Given the description of an element on the screen output the (x, y) to click on. 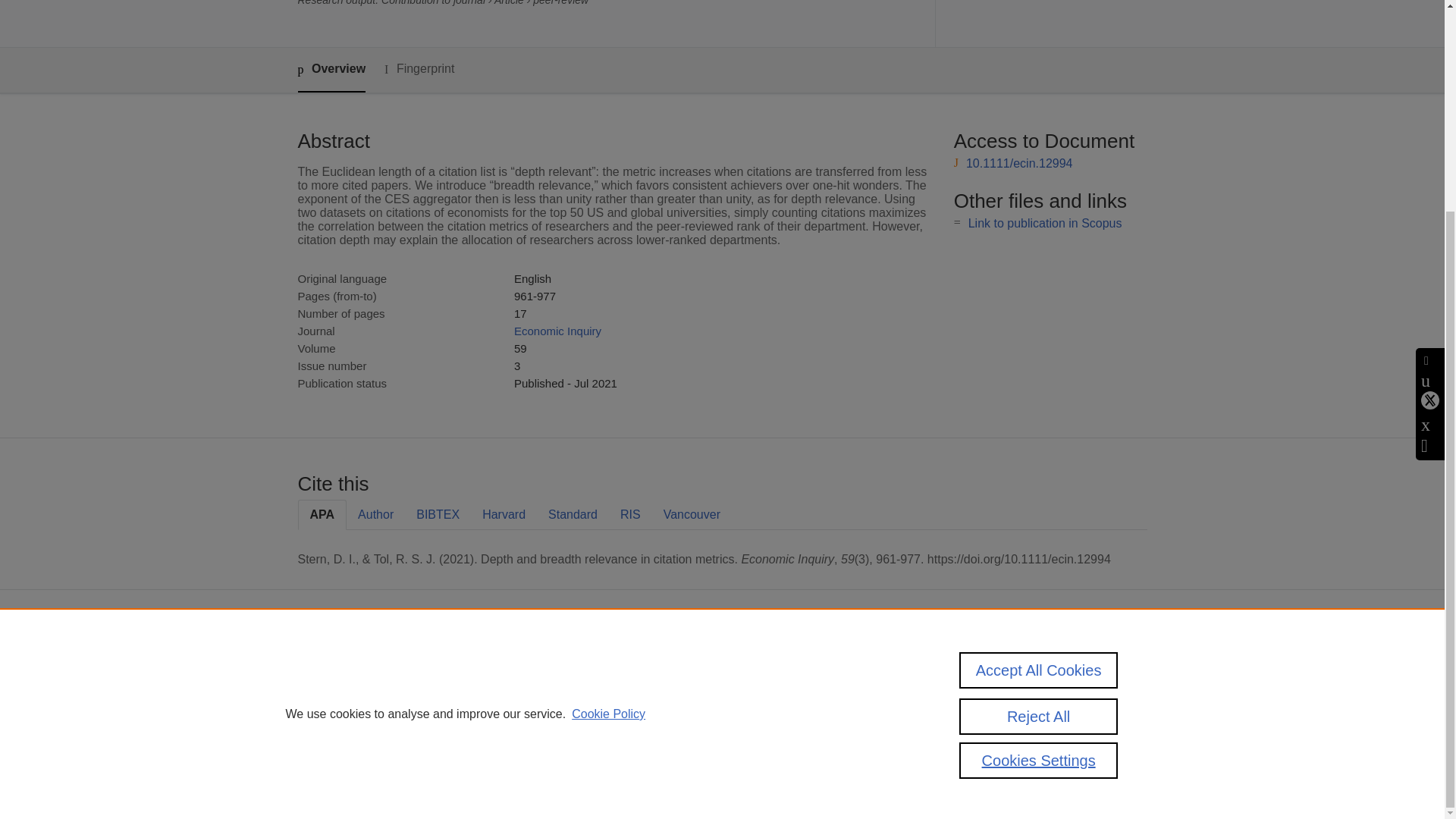
Reject All (1038, 447)
Cookies Settings (591, 761)
use of cookies (796, 734)
Pure (620, 665)
Economic Inquiry (557, 330)
Report vulnerability (1100, 702)
Elsevier B.V. (764, 685)
Scopus (652, 665)
Accept All Cookies (1038, 399)
Link to publication in Scopus (1045, 223)
About web accessibility (1100, 671)
Overview (331, 69)
Cookie Policy (608, 445)
Cookies Settings (1038, 492)
Fingerprint (419, 68)
